Given the description of an element on the screen output the (x, y) to click on. 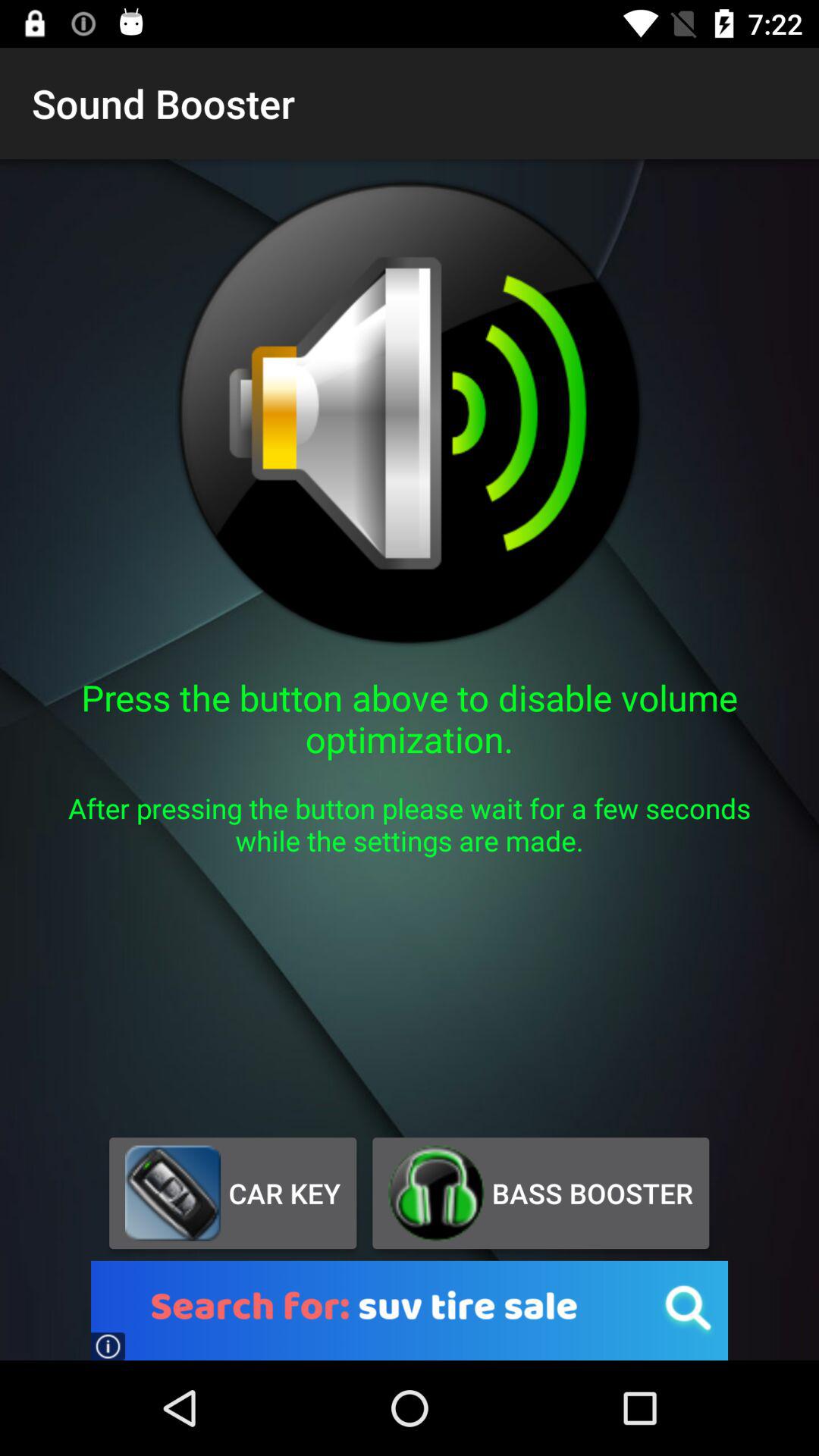
select the icon to the left of the bass booster (232, 1192)
